Given the description of an element on the screen output the (x, y) to click on. 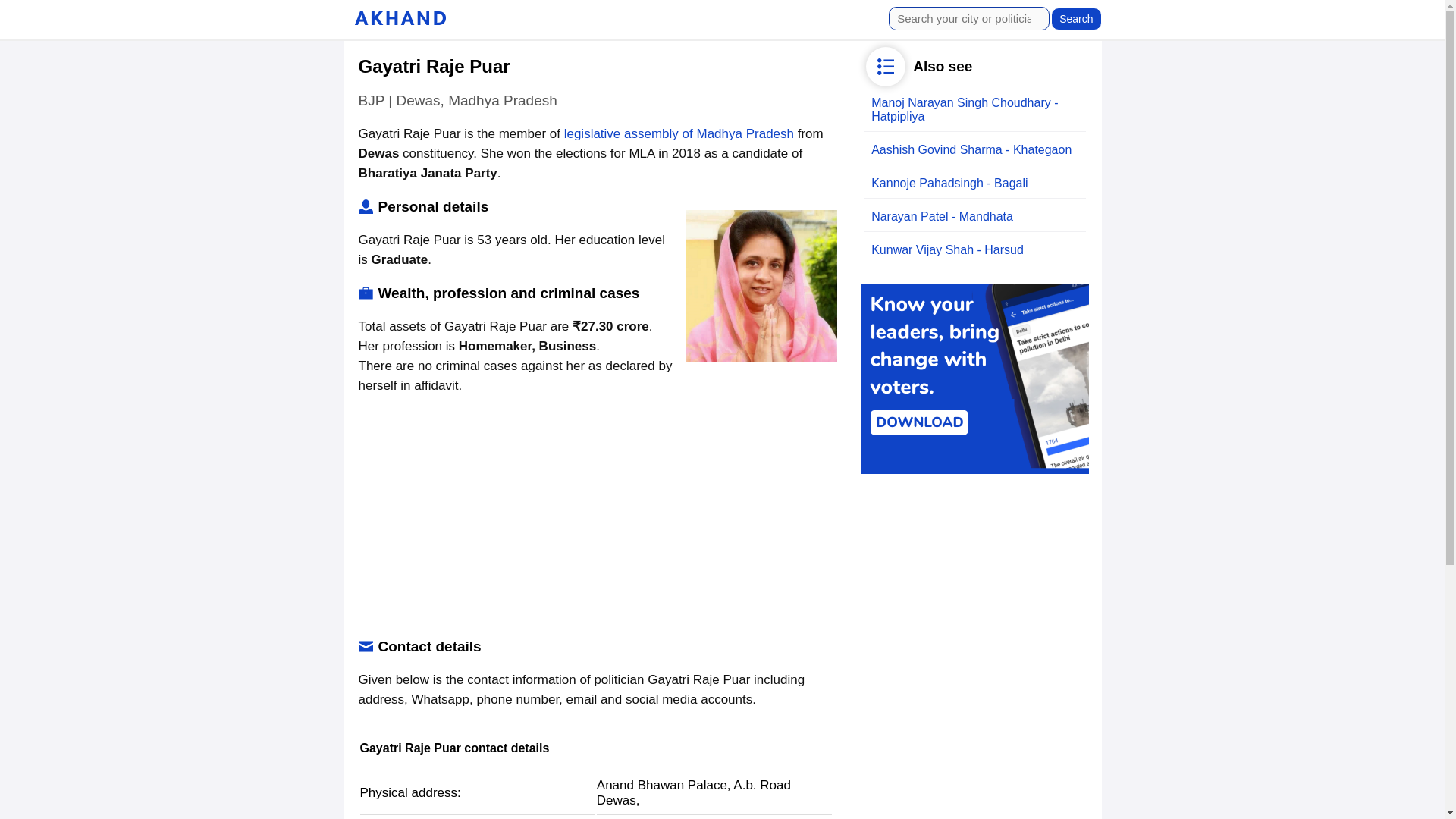
Narayan Patel - Mandhata (941, 215)
Kannoje Pahadsingh - Bagali (948, 182)
Aashish Govind Sharma - Khategaon (970, 149)
legislative assembly of Madhya Pradesh (678, 133)
Manoj Narayan Singh Choudhary - Hatpipliya (964, 109)
Advertisement (595, 517)
Search (1075, 18)
Search (1075, 18)
Search (1075, 18)
Kunwar Vijay Shah - Harsud (946, 249)
